Given the description of an element on the screen output the (x, y) to click on. 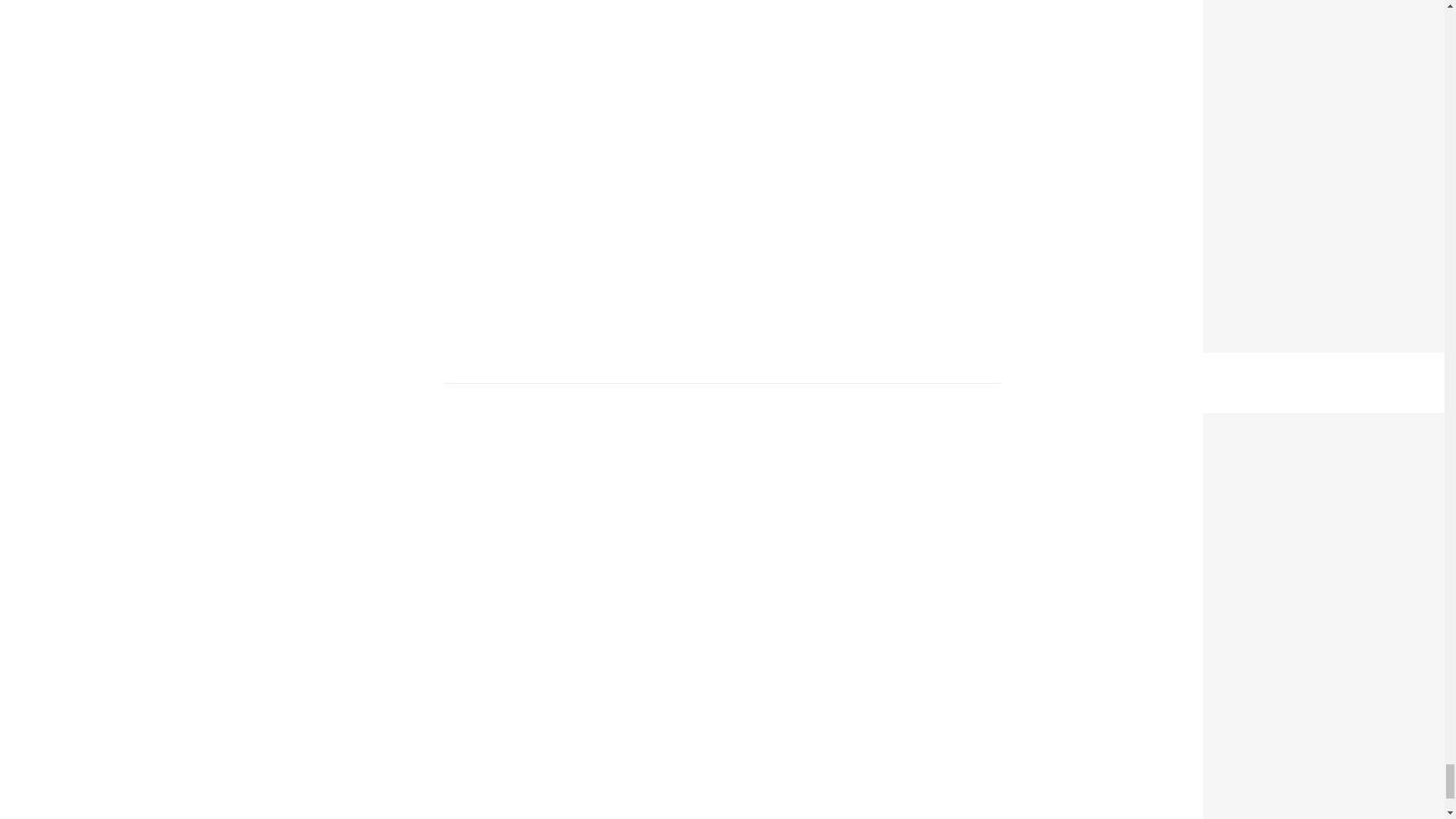
Rudolph The Red Nosed Reindeer Wallpaper Vintage Christmas (1330, 422)
